Given the description of an element on the screen output the (x, y) to click on. 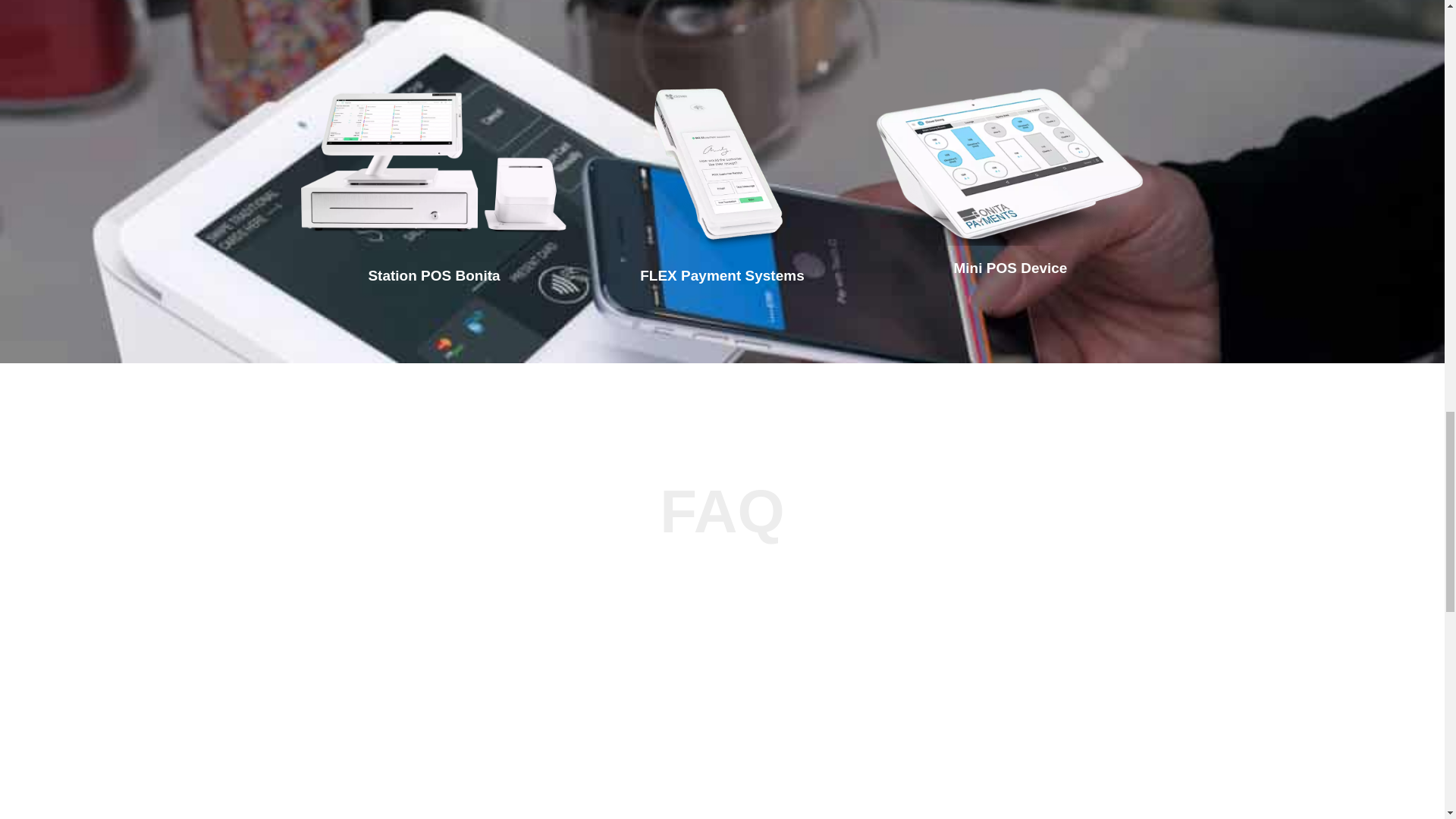
Station POS Bonita (433, 275)
FAQ (721, 512)
Mini POS Device (1010, 268)
FLEX Payment Systems (722, 275)
